Given the description of an element on the screen output the (x, y) to click on. 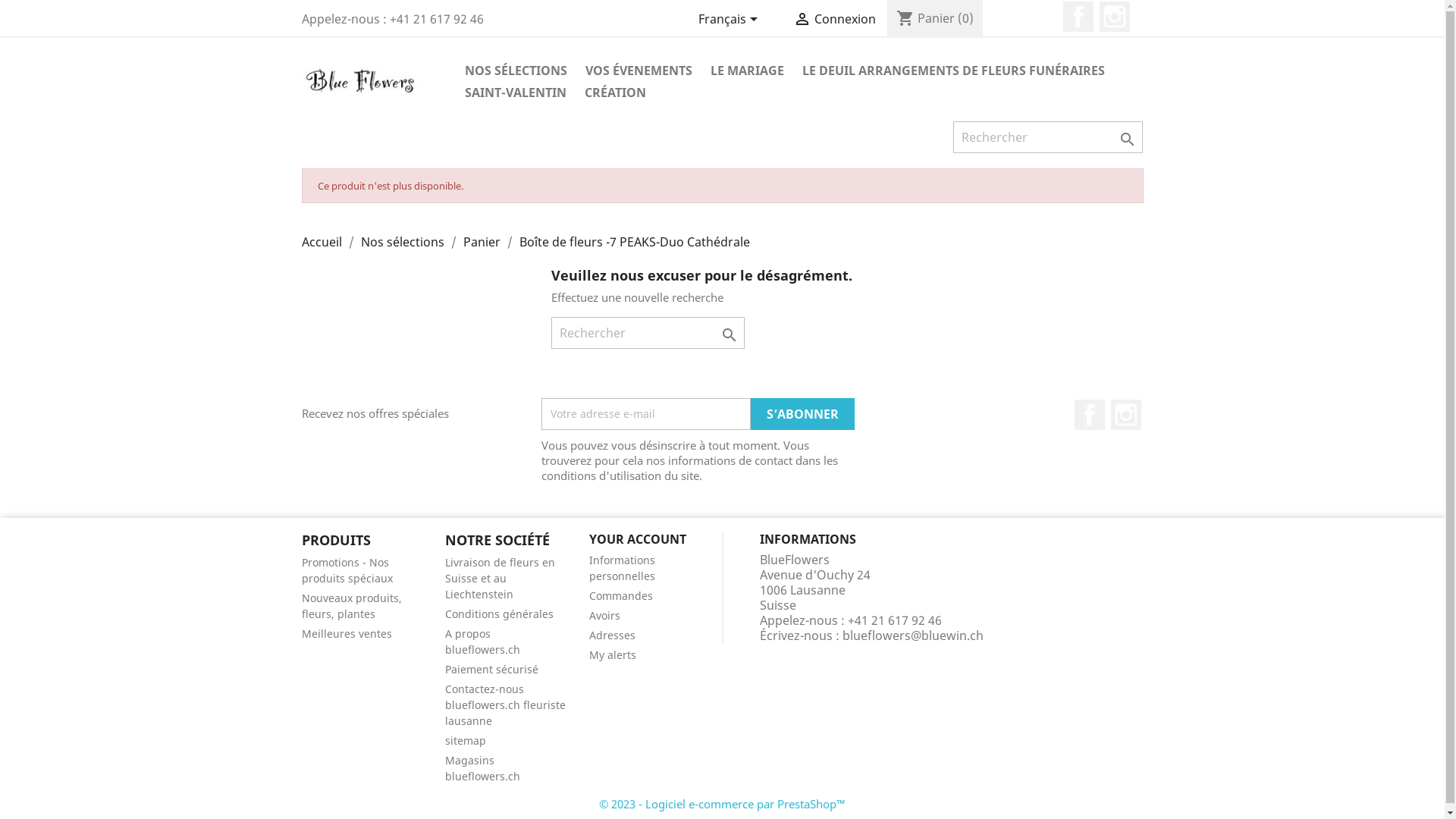
Commandes Element type: text (620, 595)
Magasins blueflowers.ch Element type: text (482, 768)
A propos blueflowers.ch Element type: text (482, 641)
Accueil Element type: text (323, 241)
Instagram Element type: text (1114, 16)
Meilleures ventes Element type: text (346, 633)
Avoirs Element type: text (604, 615)
Instagram Element type: text (1125, 414)
Contactez-nous blueflowers.ch fleuriste lausanne Element type: text (505, 704)
Nouveaux produits, fleurs, plantes Element type: text (351, 605)
Adresses Element type: text (612, 634)
blueflowers@bluewin.ch Element type: text (912, 635)
Panier Element type: text (482, 241)
Livraison de fleurs en Suisse et au Liechtenstein Element type: text (500, 578)
sitemap Element type: text (465, 740)
YOUR ACCOUNT Element type: text (637, 538)
My alerts Element type: text (612, 654)
Facebook Element type: text (1089, 414)
Facebook Element type: text (1078, 16)
SAINT-VALENTIN Element type: text (514, 93)
Informations personnelles Element type: text (622, 567)
LE MARIAGE Element type: text (746, 71)
